Given the description of an element on the screen output the (x, y) to click on. 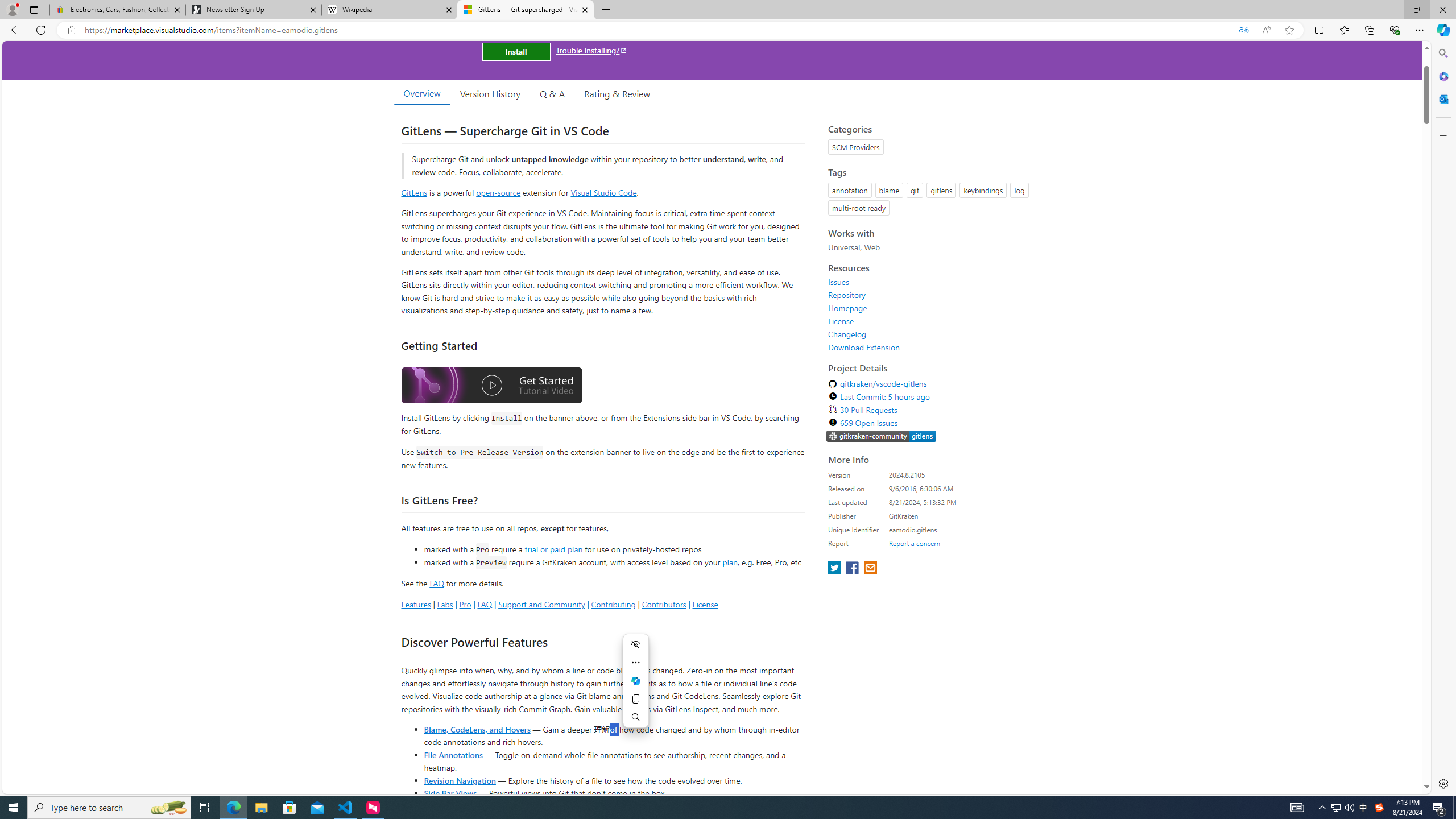
share extension on twitter (835, 568)
Issues (931, 281)
Watch the GitLens Getting Started video (491, 385)
Download Extension (931, 346)
Watch the GitLens Getting Started video (491, 387)
Pro (464, 603)
